Given the description of an element on the screen output the (x, y) to click on. 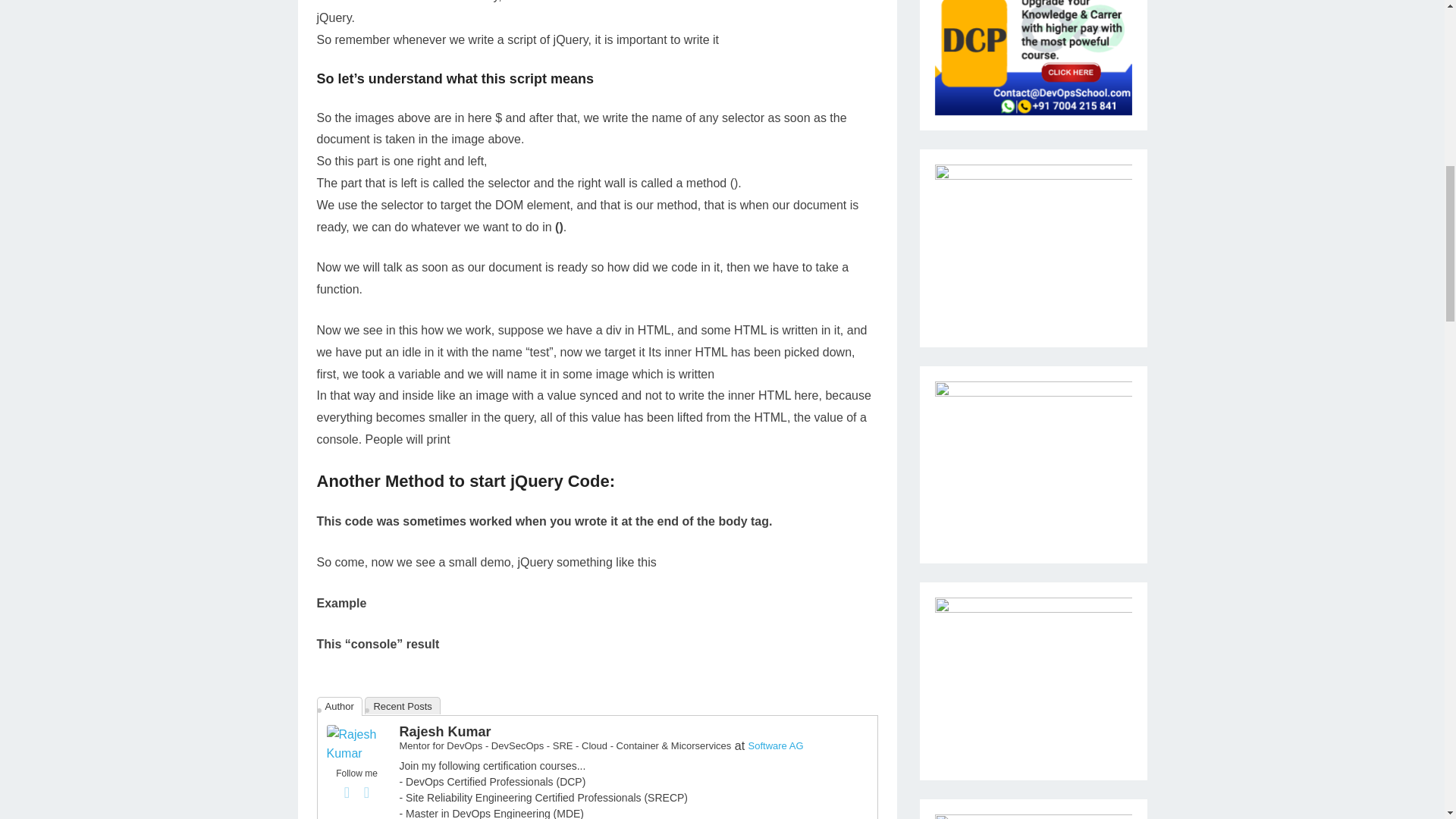
Recent Posts (402, 705)
Rajesh Kumar (356, 753)
Software AG (775, 745)
Facebook (346, 791)
Twitter (366, 791)
Author (339, 705)
Rajesh Kumar (444, 731)
